Given the description of an element on the screen output the (x, y) to click on. 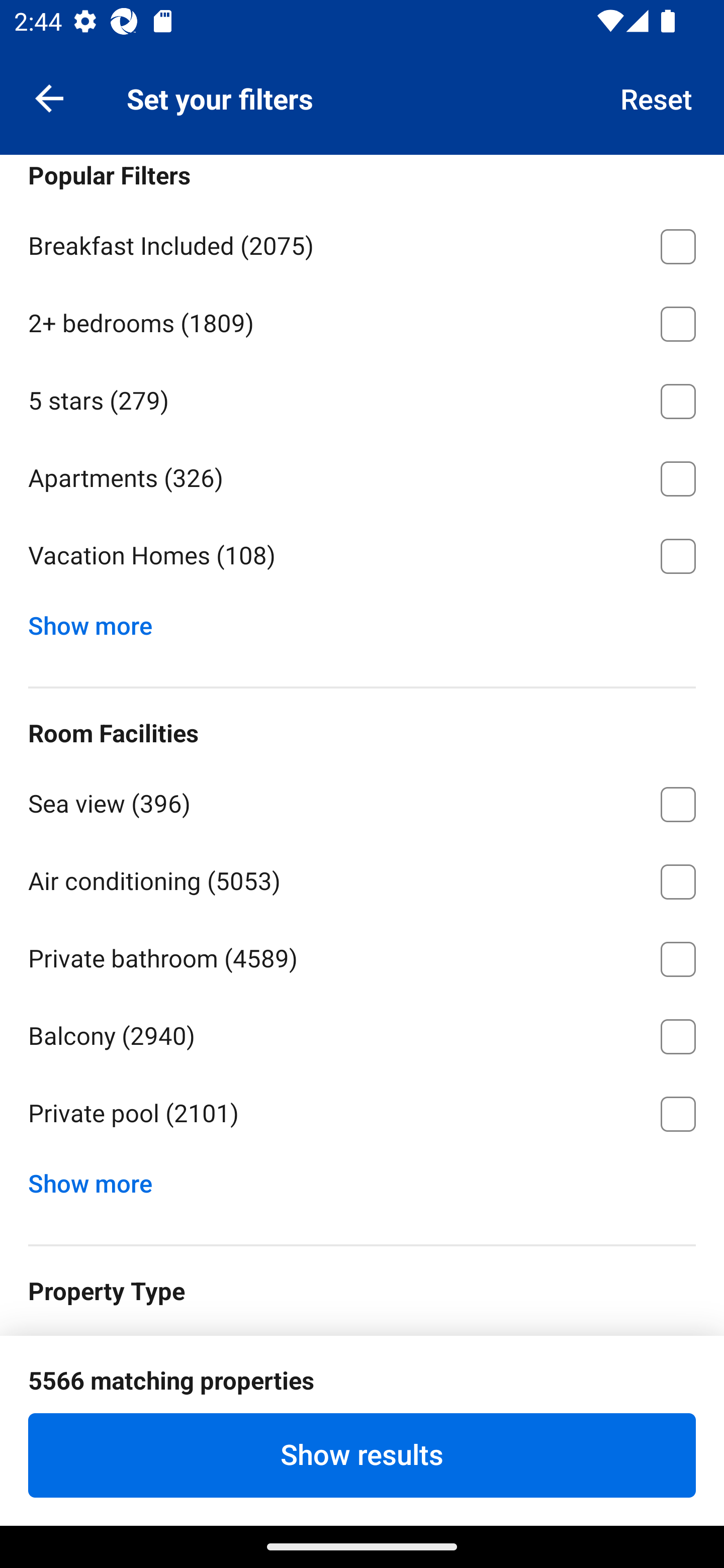
Navigate up (49, 97)
Reset (656, 97)
Breakfast Included ⁦(2075) (361, 242)
2+ bedrooms ⁦(1809) (361, 320)
5 stars ⁦(279) (361, 398)
Apartments ⁦(326) (361, 475)
Vacation Homes ⁦(108) (361, 556)
Show more (97, 621)
Sea view ⁦(396) (361, 801)
Air conditioning ⁦(5053) (361, 878)
Private bathroom ⁦(4589) (361, 955)
Balcony ⁦(2940) (361, 1033)
Private pool ⁦(2101) (361, 1114)
Show more (97, 1179)
Show results (361, 1454)
